Given the description of an element on the screen output the (x, y) to click on. 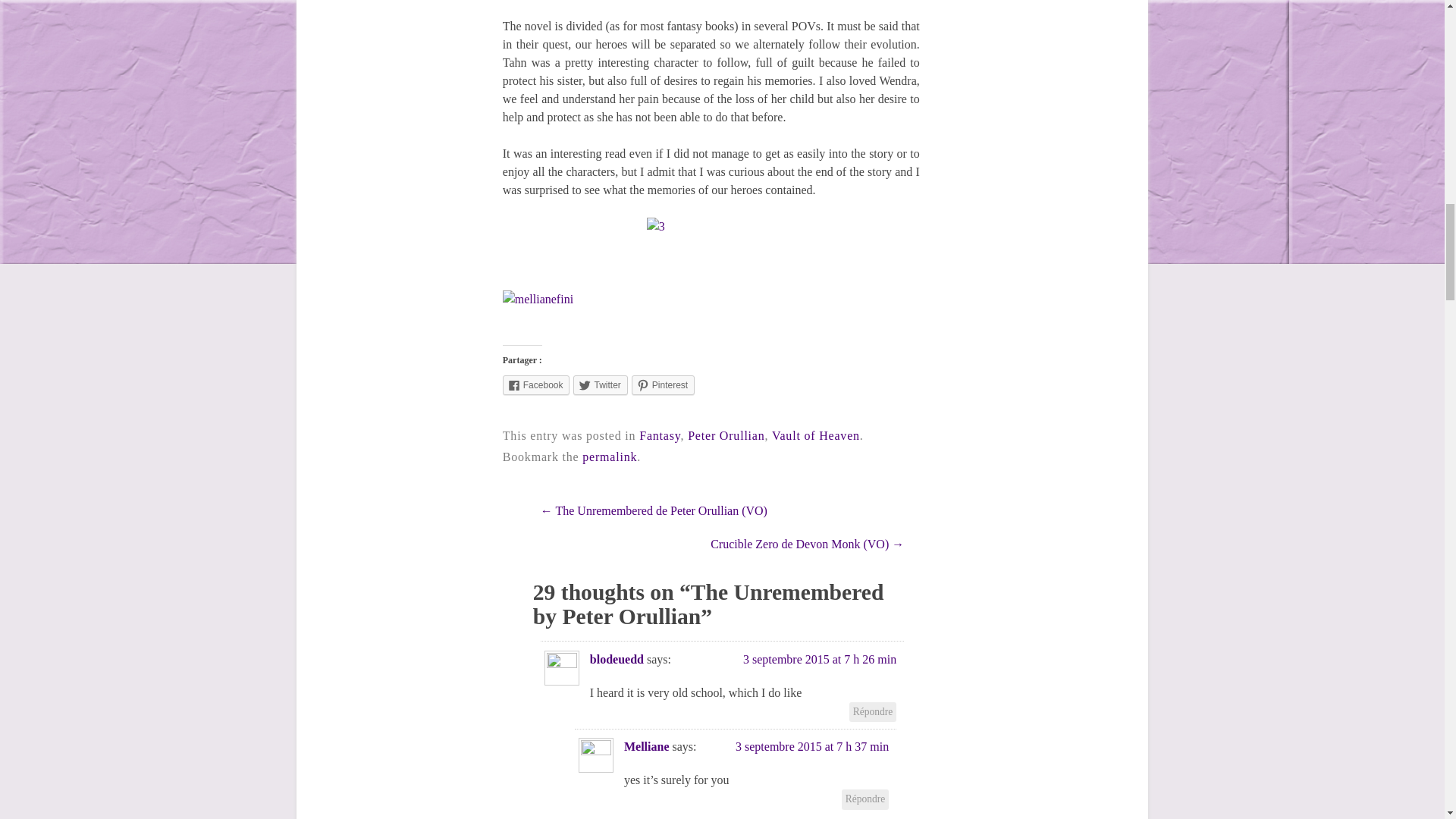
3 septembre 2015 at 7 h 26 min (819, 658)
Cliquez pour partager sur Pinterest (662, 384)
Permalink to The Unremembered by Peter Orullian (609, 456)
Cliquez pour partager sur Twitter (600, 384)
Peter Orullian (725, 435)
Twitter (600, 384)
Pinterest (662, 384)
blodeuedd (616, 658)
Cliquez pour partager sur Facebook (536, 384)
Facebook (536, 384)
